Given the description of an element on the screen output the (x, y) to click on. 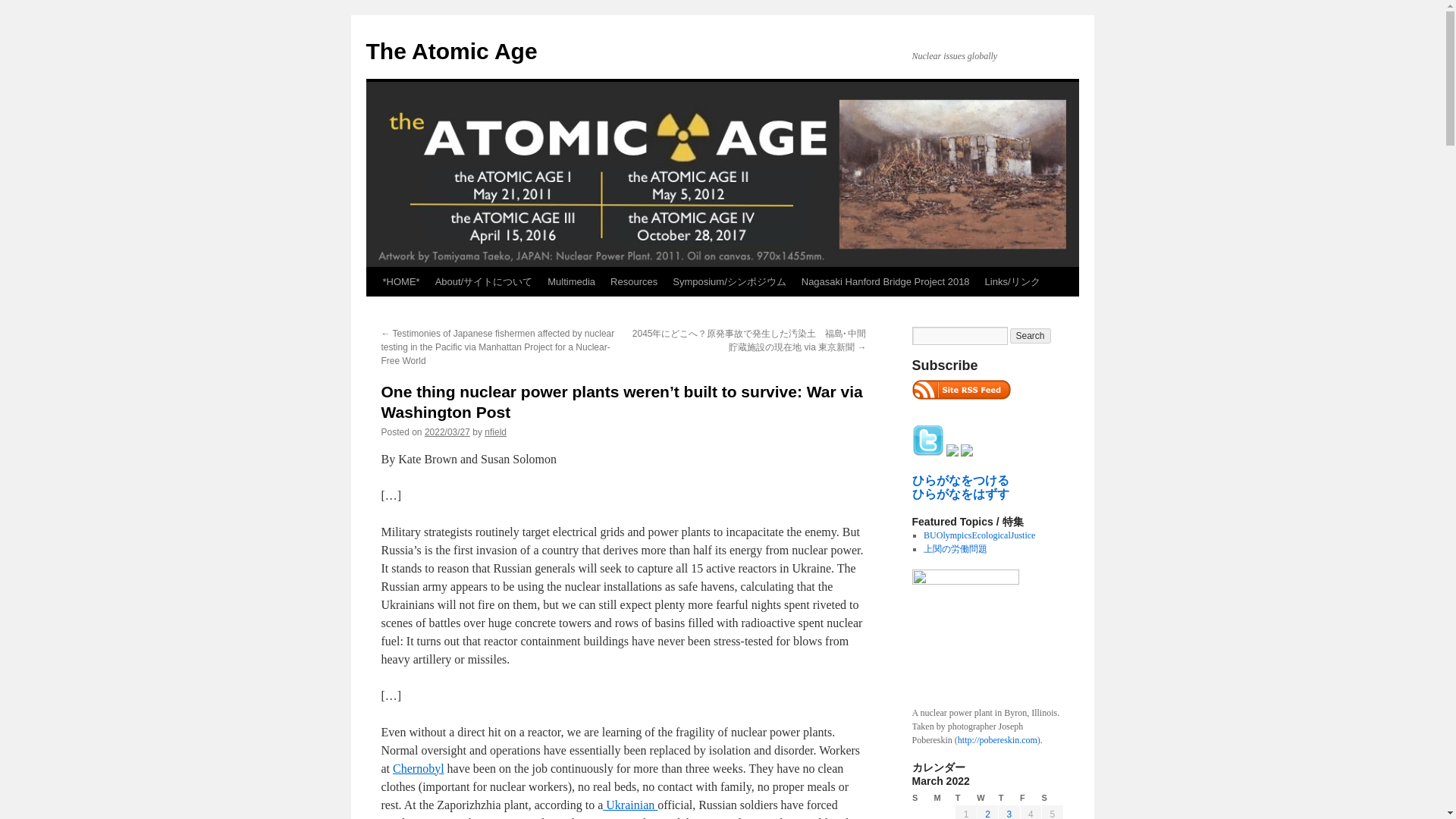
Saturday (1052, 798)
RSS 2.0 feed for posts (960, 403)
Search (1030, 335)
 Ukrainian  (630, 804)
Monday (944, 798)
nfield (495, 431)
 latest posts (960, 389)
TokyoOlympicsEcologicalJustice (979, 534)
Tuesday (965, 798)
Nagasaki Hanford Bridge Project 2018 (884, 281)
